Given the description of an element on the screen output the (x, y) to click on. 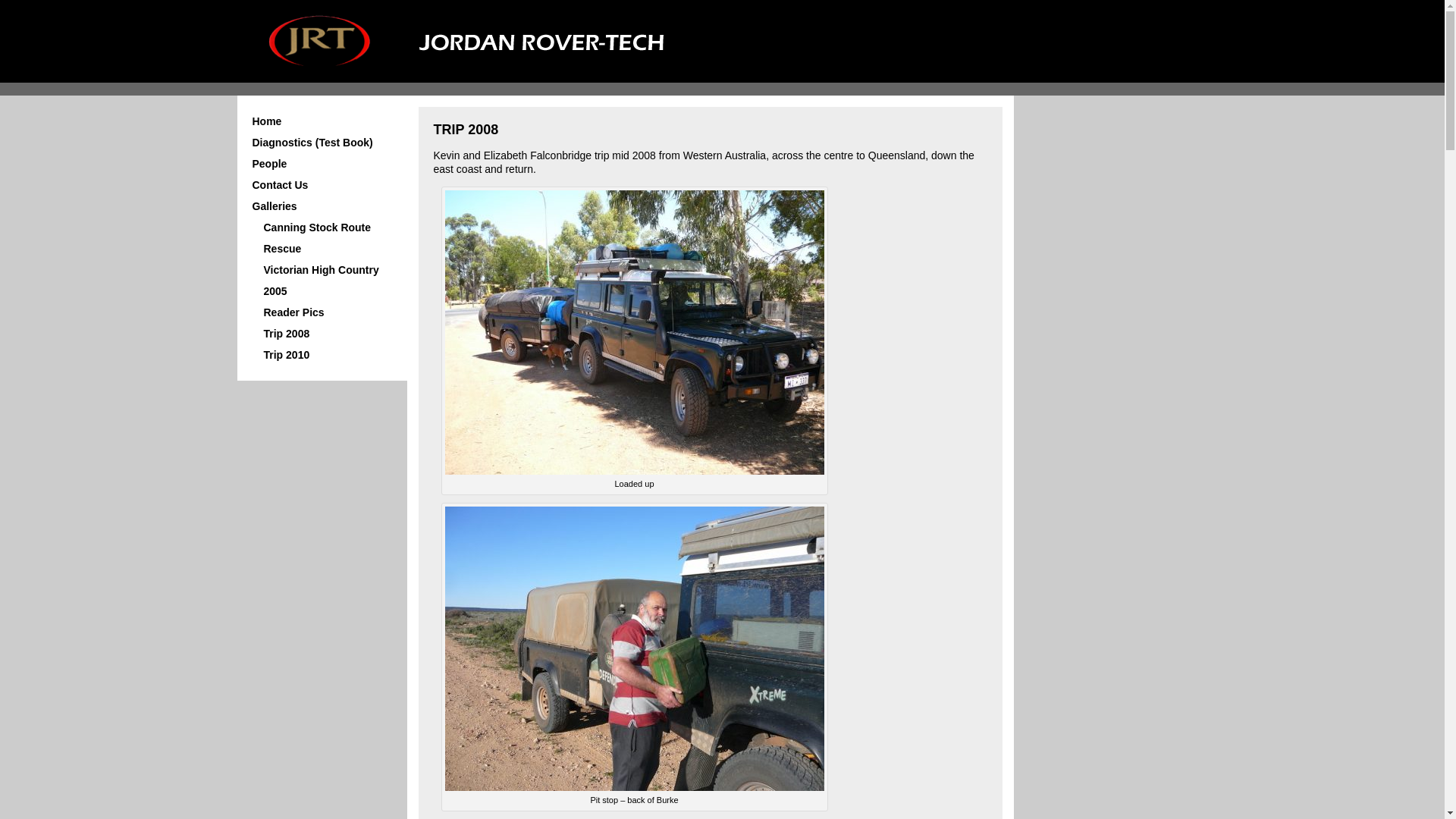
Trip 2010 Element type: text (286, 354)
Victorian High Country 2005 Element type: text (321, 280)
Reader Pics Element type: text (293, 312)
Home Element type: text (266, 121)
Canning Stock Route Rescue Element type: text (317, 237)
People Element type: text (268, 163)
Trip 2008 Element type: text (286, 333)
Diagnostics (Test Book) Element type: text (311, 142)
Contact Us Element type: text (279, 184)
Galleries Element type: text (273, 206)
